Given the description of an element on the screen output the (x, y) to click on. 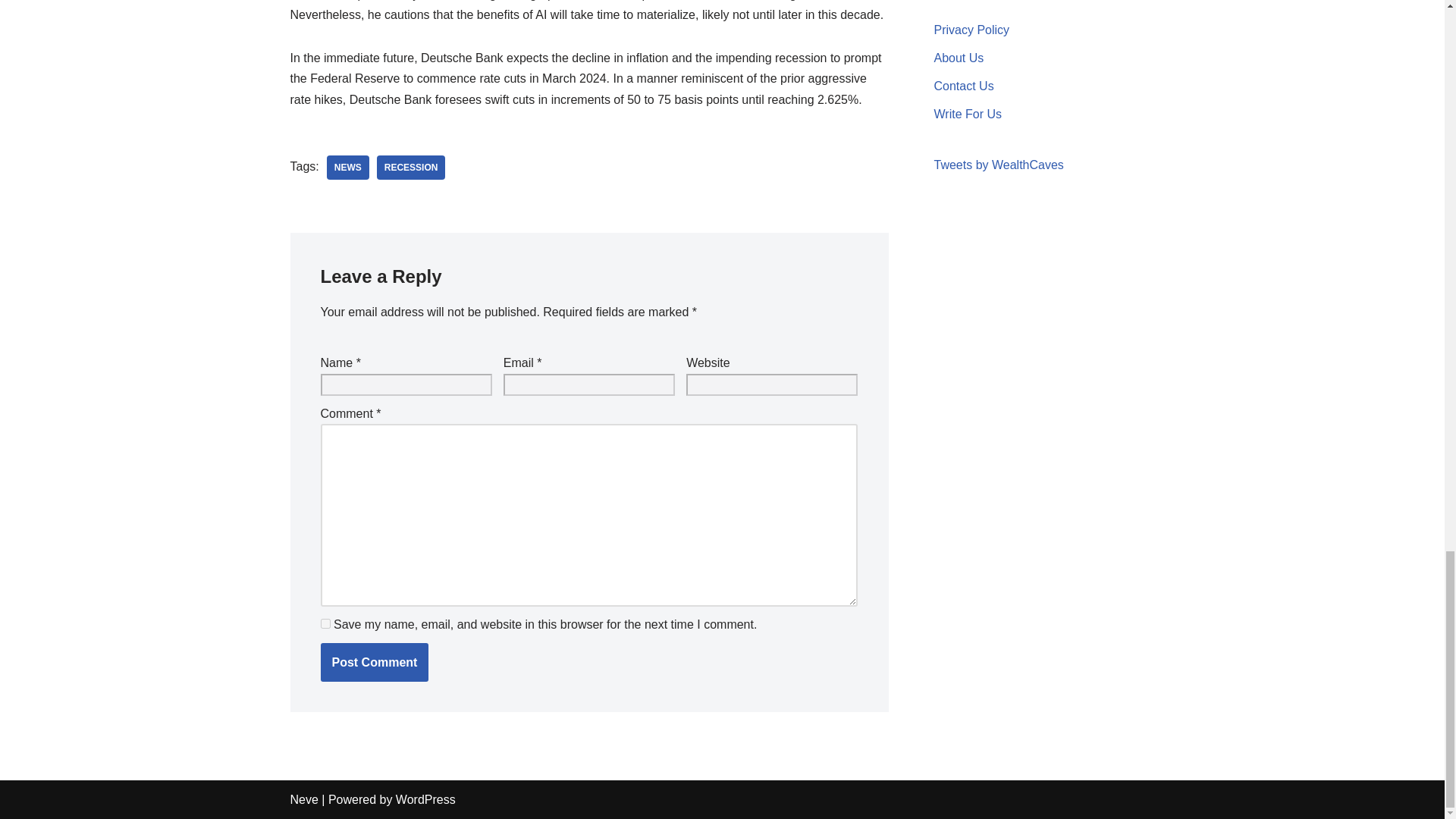
yes (325, 623)
Post Comment (374, 662)
Post Comment (374, 662)
News (347, 167)
NEWS (347, 167)
Recession (411, 167)
RECESSION (411, 167)
